Given the description of an element on the screen output the (x, y) to click on. 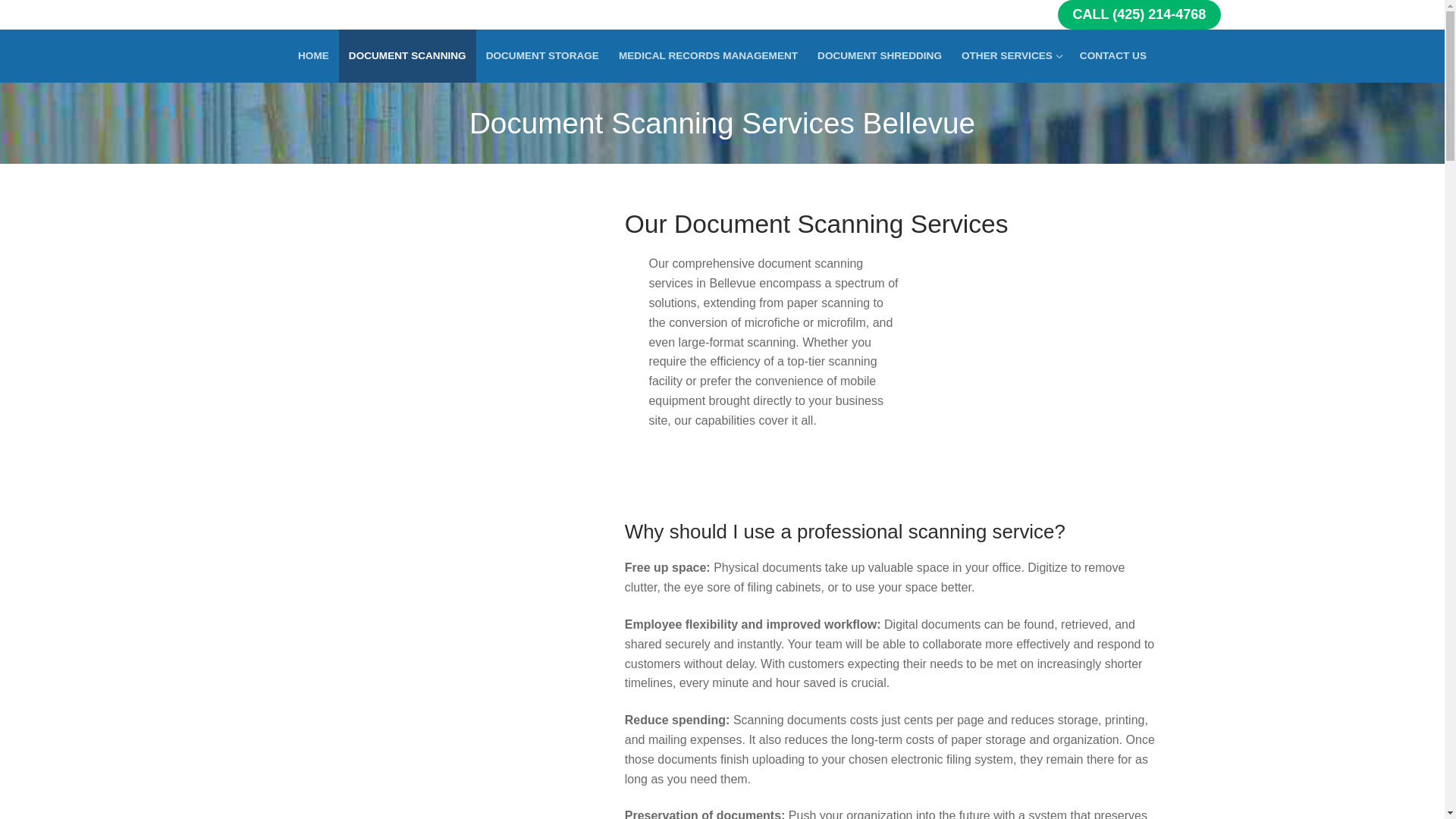
DOCUMENT SHREDDING (880, 55)
CONTACT US (1011, 55)
DOCUMENT SCANNING (1113, 55)
HOME (407, 55)
MEDICAL RECORDS MANAGEMENT (313, 55)
DOCUMENT STORAGE (708, 55)
